Given the description of an element on the screen output the (x, y) to click on. 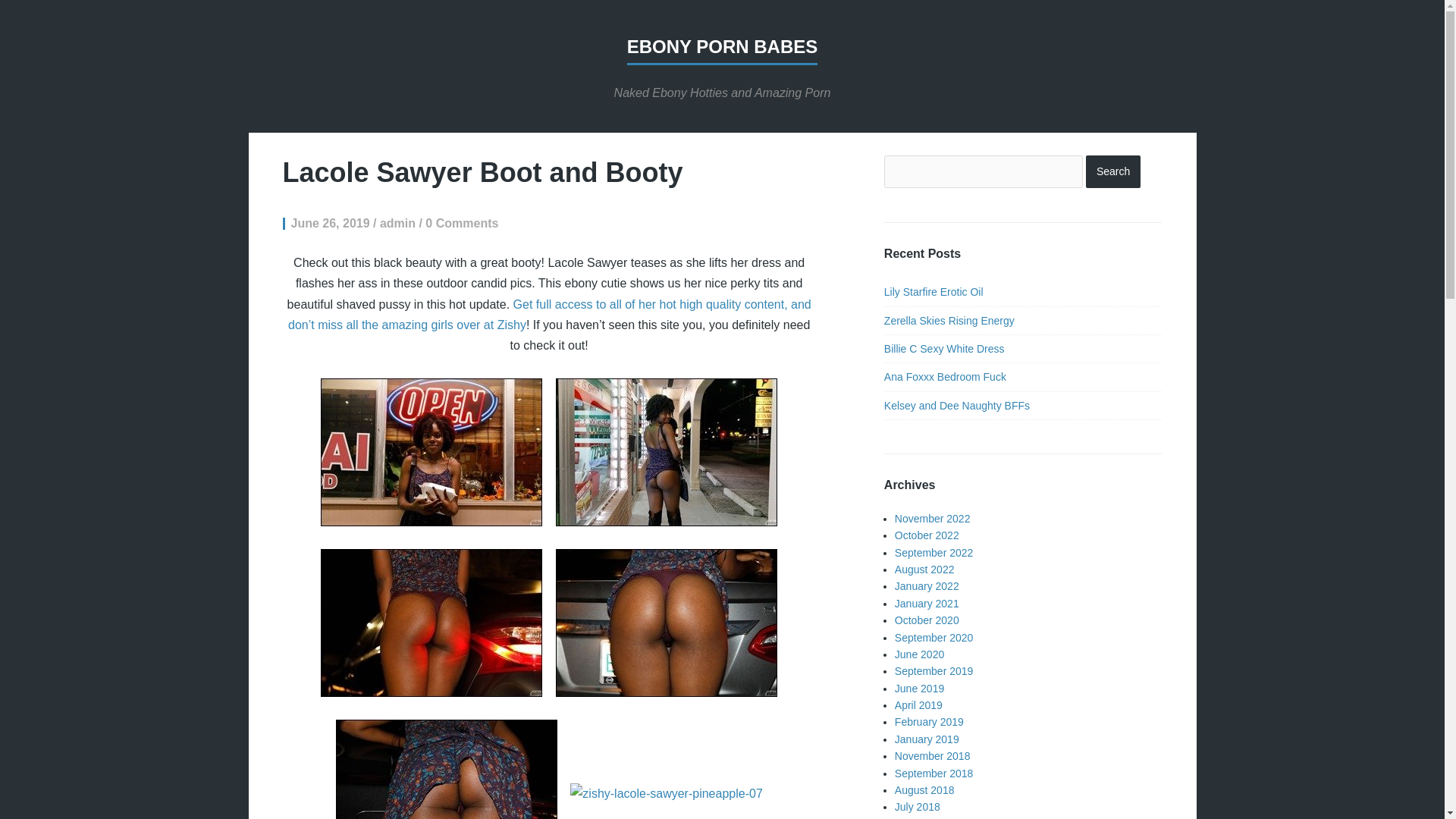
July 2018 (917, 806)
June 2020 (919, 654)
January 2019 (927, 739)
zishy-lacole-sawyer-pineapple-03 (430, 622)
August 2022 (925, 569)
zishy-lacole-sawyer-pineapple-07 (665, 792)
Search (1113, 171)
Search (1113, 171)
January 2021 (927, 603)
September 2022 (934, 552)
